Given the description of an element on the screen output the (x, y) to click on. 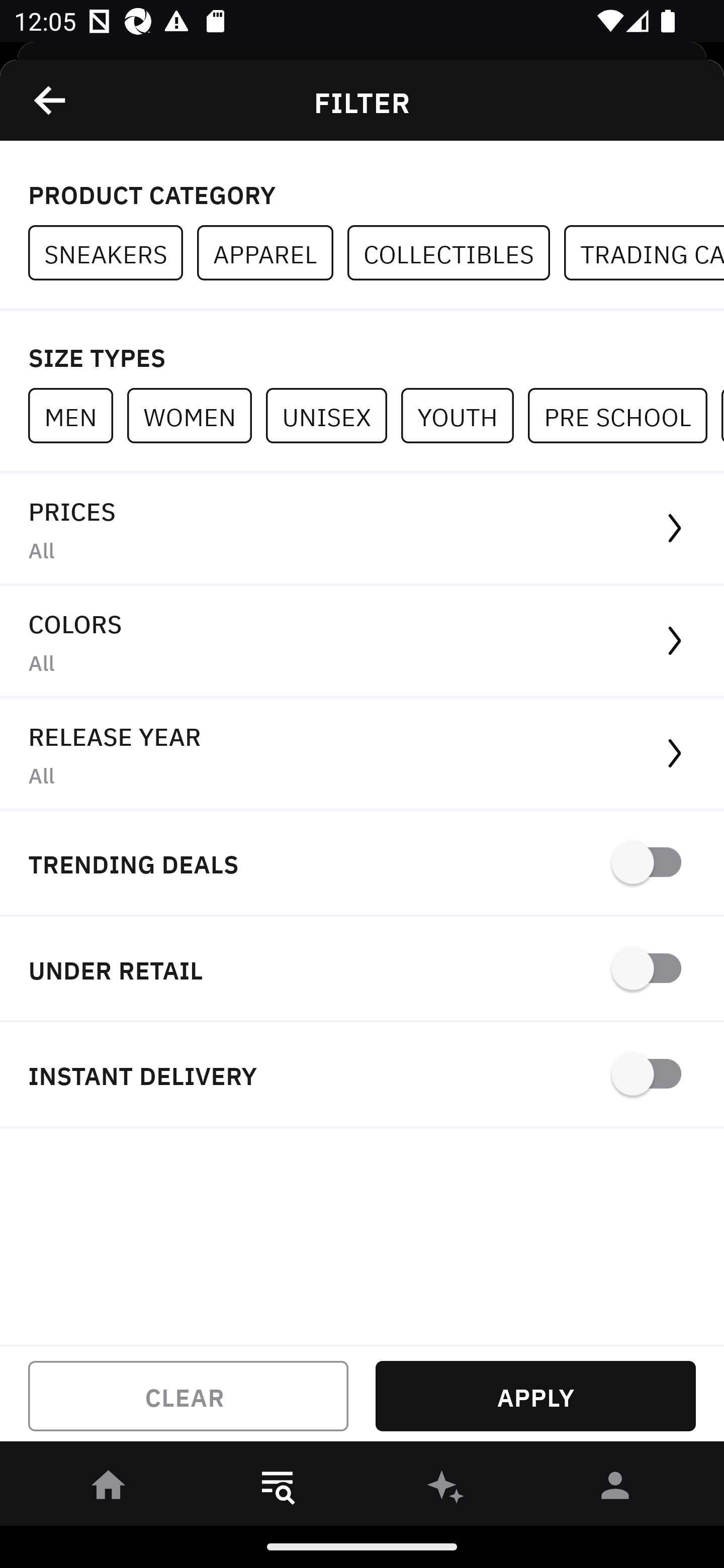
 (50, 100)
SNEAKERS (112, 252)
APPAREL (271, 252)
COLLECTIBLES (455, 252)
TRADING CARDS (643, 252)
MEN (77, 415)
WOMEN (196, 415)
UNISEX (333, 415)
YOUTH (464, 415)
PRE SCHOOL (624, 415)
PRICES All (362, 528)
COLORS All (362, 640)
RELEASE YEAR All (362, 753)
TRENDING DEALS (362, 863)
UNDER RETAIL (362, 969)
INSTANT DELIVERY (362, 1075)
CLEAR  (188, 1396)
APPLY (535, 1396)
󰋜 (108, 1488)
󱎸 (277, 1488)
󰫢 (446, 1488)
󰀄 (615, 1488)
